Given the description of an element on the screen output the (x, y) to click on. 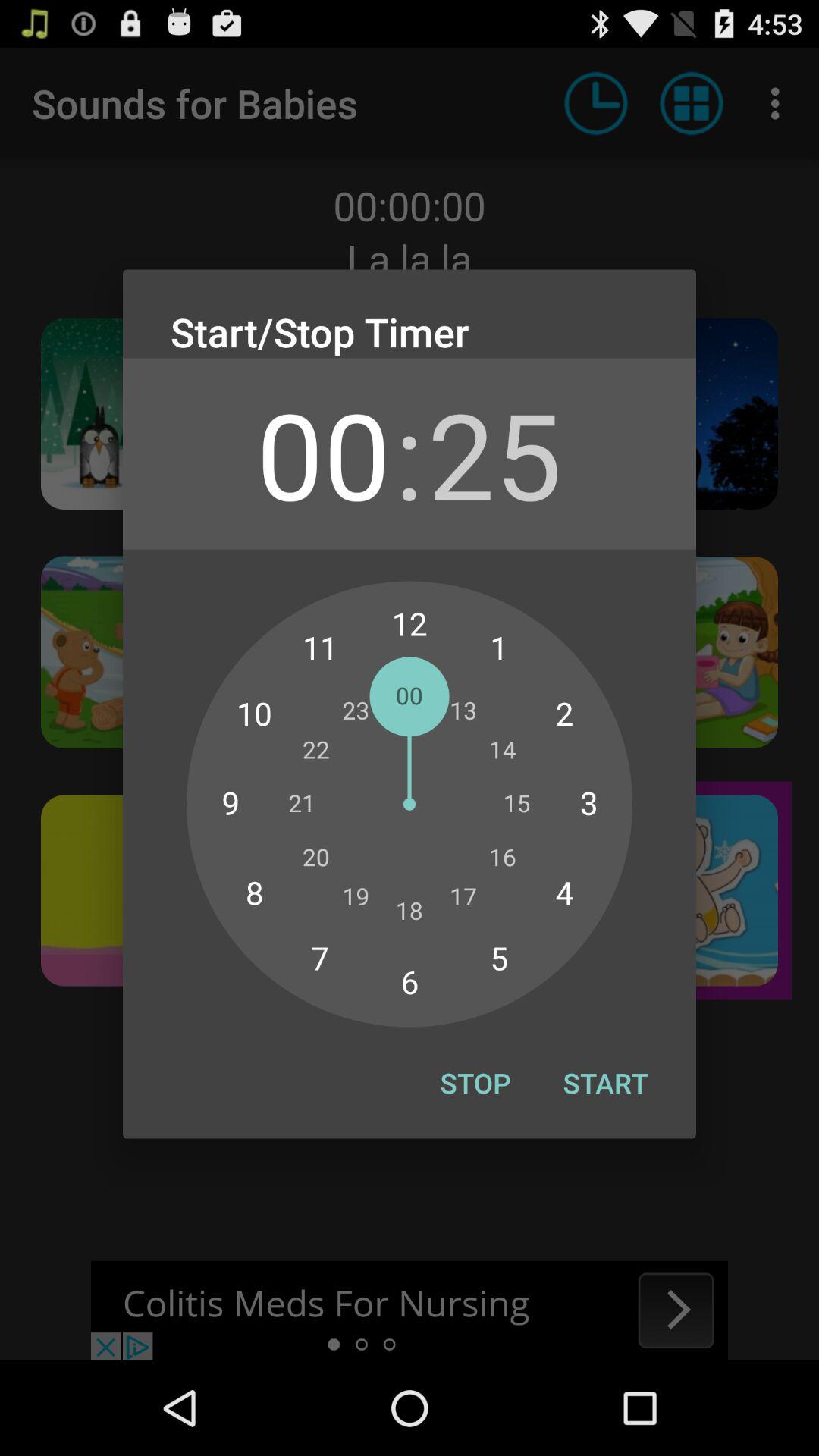
open the 00 (323, 453)
